Given the description of an element on the screen output the (x, y) to click on. 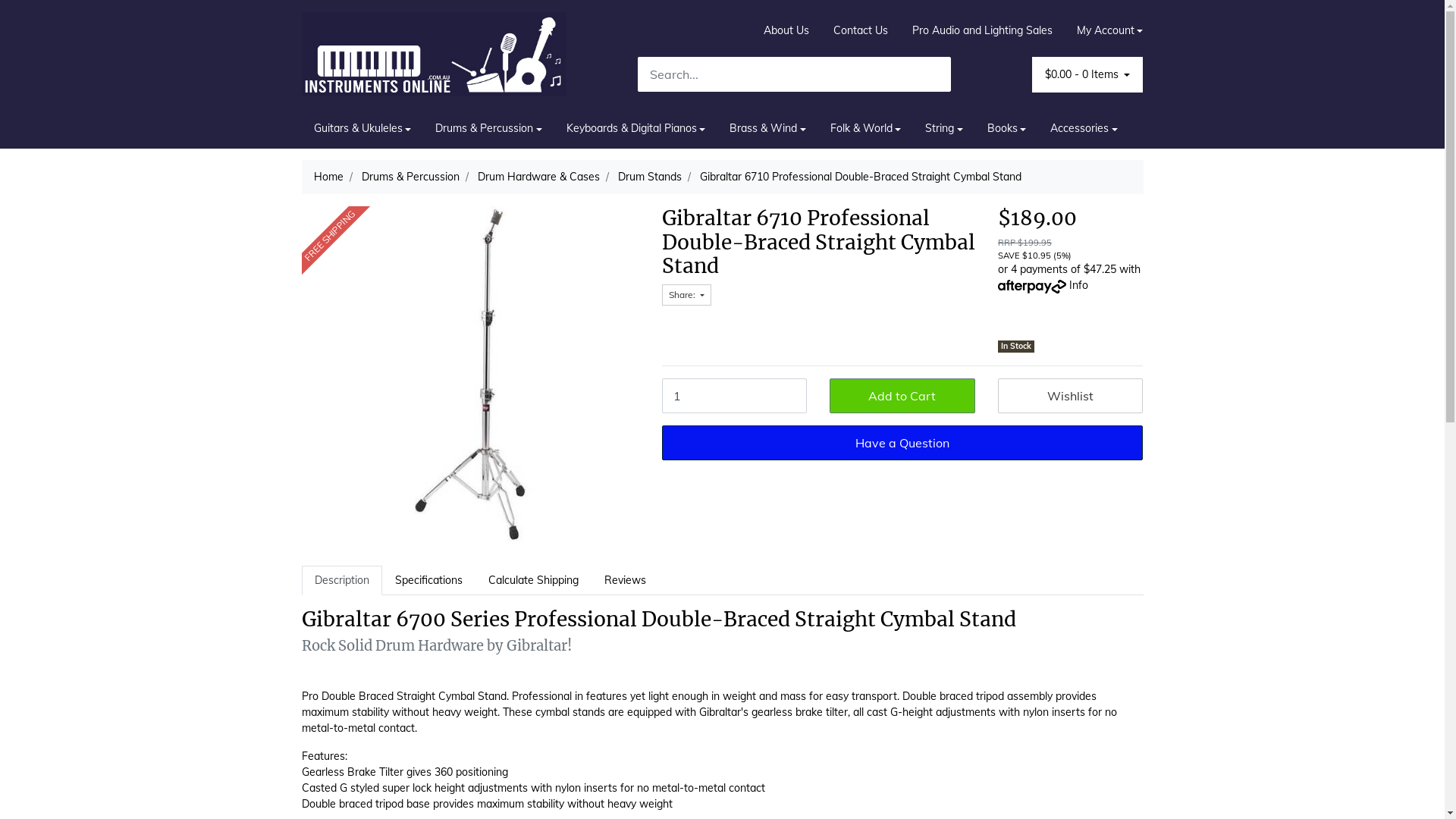
Keyboards & Digital Pianos Element type: text (636, 128)
String Element type: text (944, 128)
FREE SHIPPING Element type: text (470, 374)
Folk & World Element type: text (865, 128)
Search Element type: text (939, 73)
Drums & Percussion Element type: text (488, 128)
Calculate Shipping Element type: text (532, 580)
Instruments Online Element type: hover (434, 52)
Home Element type: text (328, 176)
Pro Audio and Lighting Sales Element type: text (982, 30)
Info Element type: text (1078, 284)
Contact Us Element type: text (860, 30)
Guitars & Ukuleles Element type: text (362, 128)
Add to Cart Element type: text (902, 395)
$0.00 - 0 Items Element type: text (1087, 74)
Brass & Wind Element type: text (767, 128)
About Us Element type: text (786, 30)
Specifications Element type: text (428, 580)
Wishlist Element type: text (1070, 395)
Drum Hardware & Cases Element type: text (538, 176)
Drums & Percussion Element type: text (409, 176)
Reviews Element type: text (624, 580)
Accessories Element type: text (1083, 128)
Books Element type: text (1006, 128)
Drum Stands Element type: text (648, 176)
Description Element type: text (341, 580)
Share: Element type: text (685, 294)
My Account Element type: text (1103, 30)
Have a Question Element type: text (901, 442)
